Given the description of an element on the screen output the (x, y) to click on. 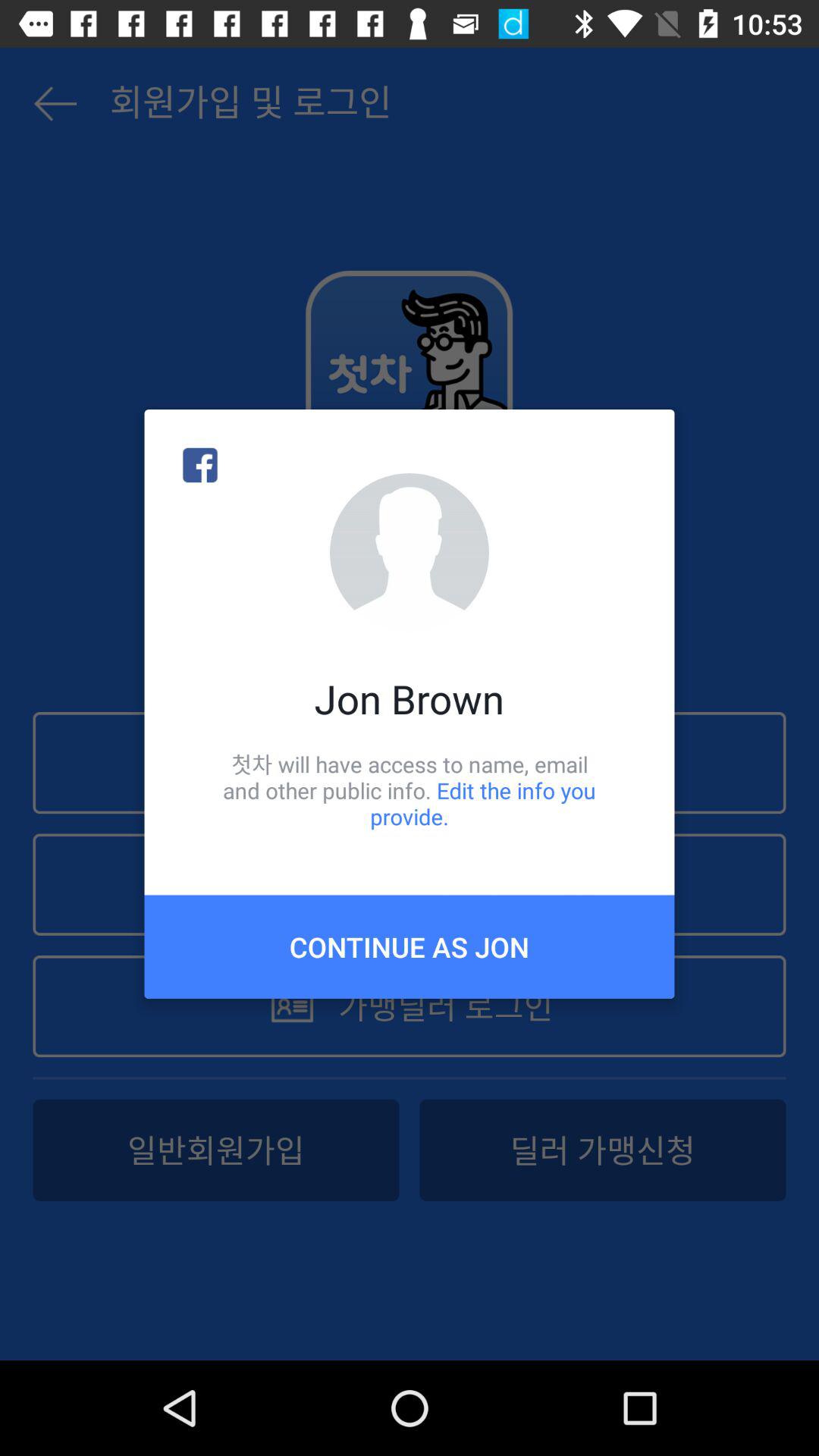
launch the icon below the jon brown icon (409, 790)
